Given the description of an element on the screen output the (x, y) to click on. 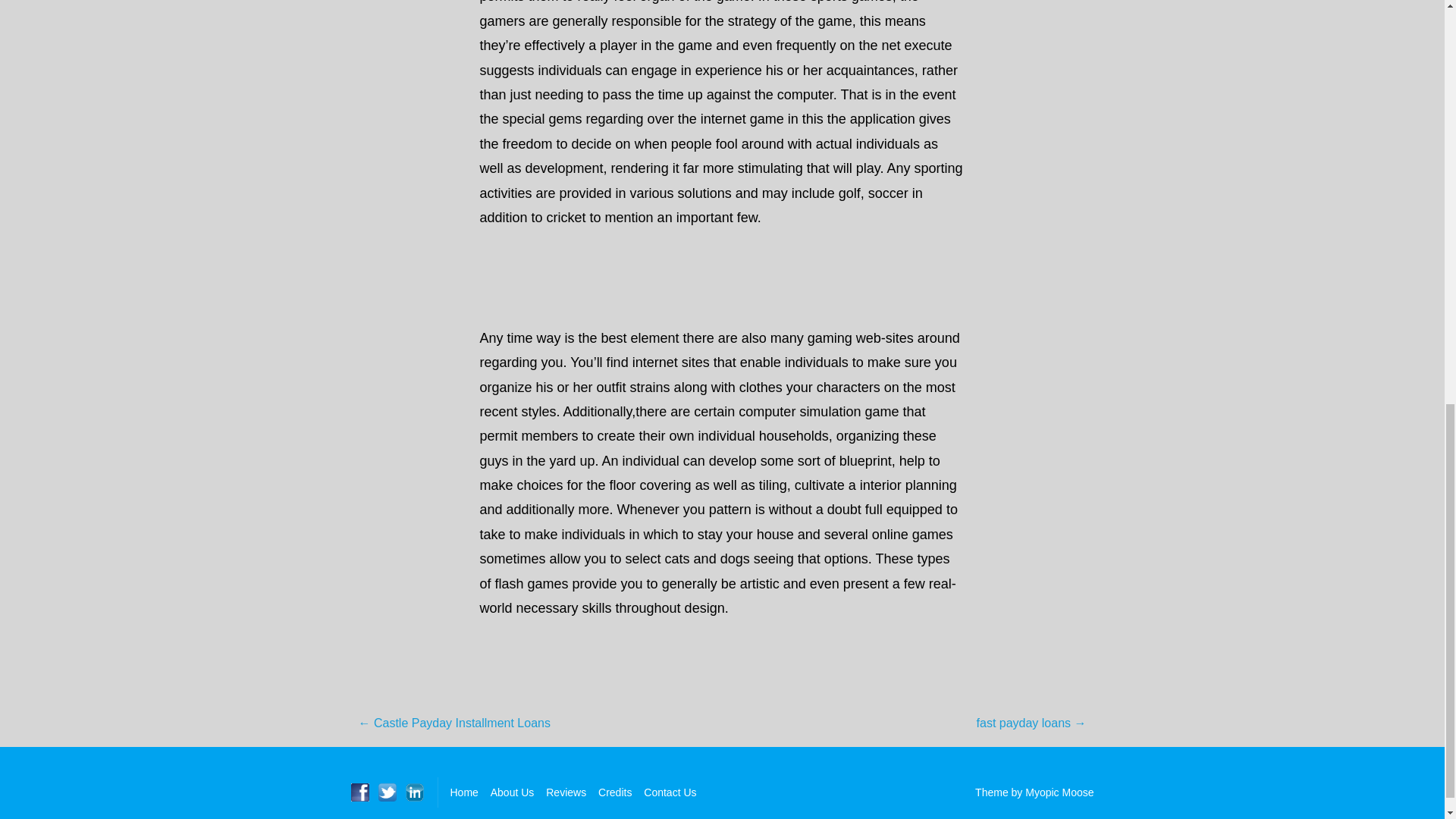
Follow Us on LinkedIn (413, 791)
Follow Us on Facebook (359, 791)
Contact Us (669, 791)
Follow Us on Twitter (386, 791)
Credits (614, 791)
About Us (512, 791)
Home (464, 791)
Myopic Moose (1059, 792)
Reviews (566, 791)
